Given the description of an element on the screen output the (x, y) to click on. 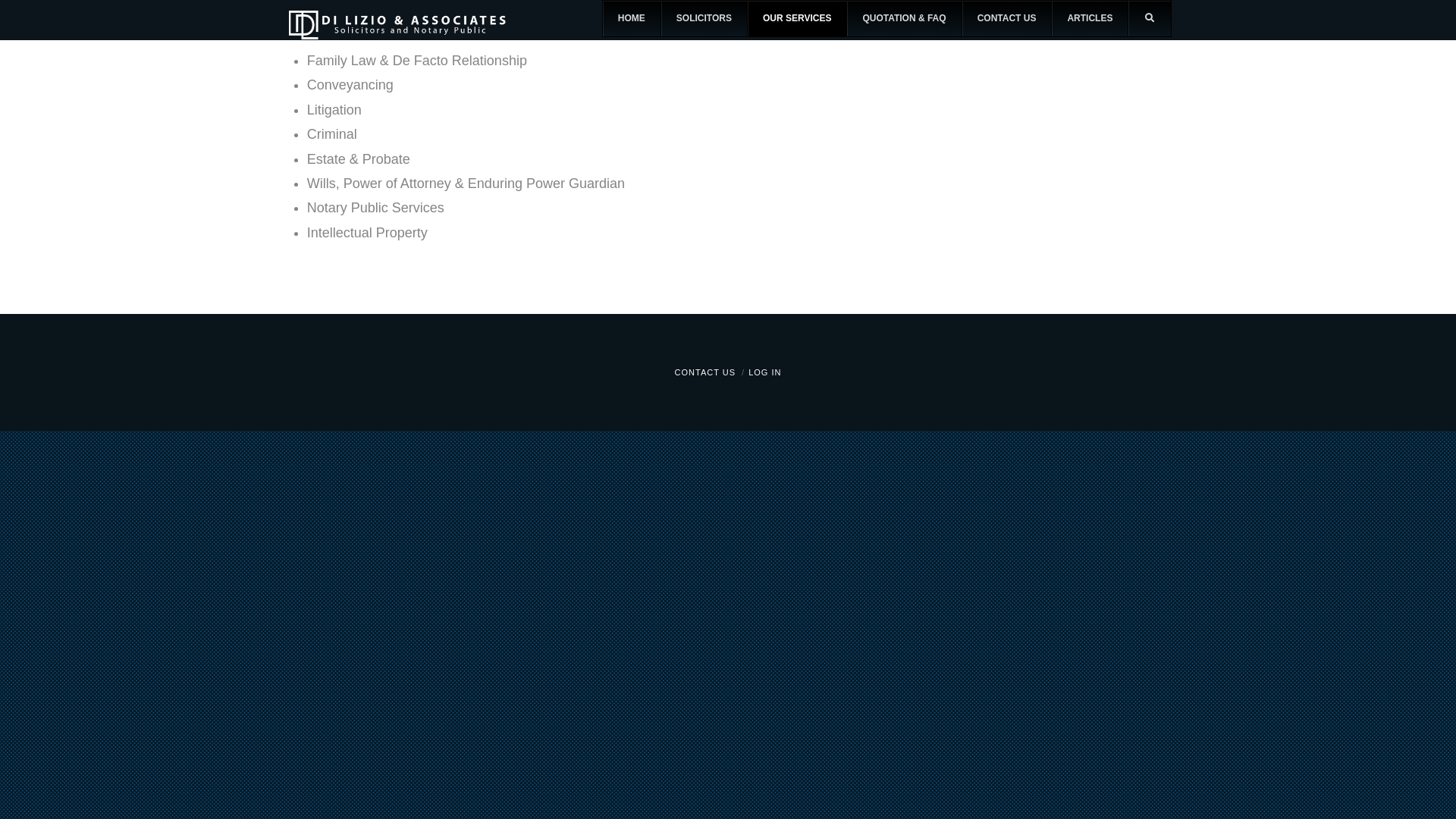
ARTICLES Element type: text (1089, 18)
OUR SERVICES Element type: text (796, 18)
CONTACT US Element type: text (705, 371)
LOG IN Element type: text (764, 371)
QUOTATION & FAQ Element type: text (903, 18)
HOME Element type: text (631, 18)
SOLICITORS Element type: text (703, 18)
CONTACT US Element type: text (1006, 18)
